Given the description of an element on the screen output the (x, y) to click on. 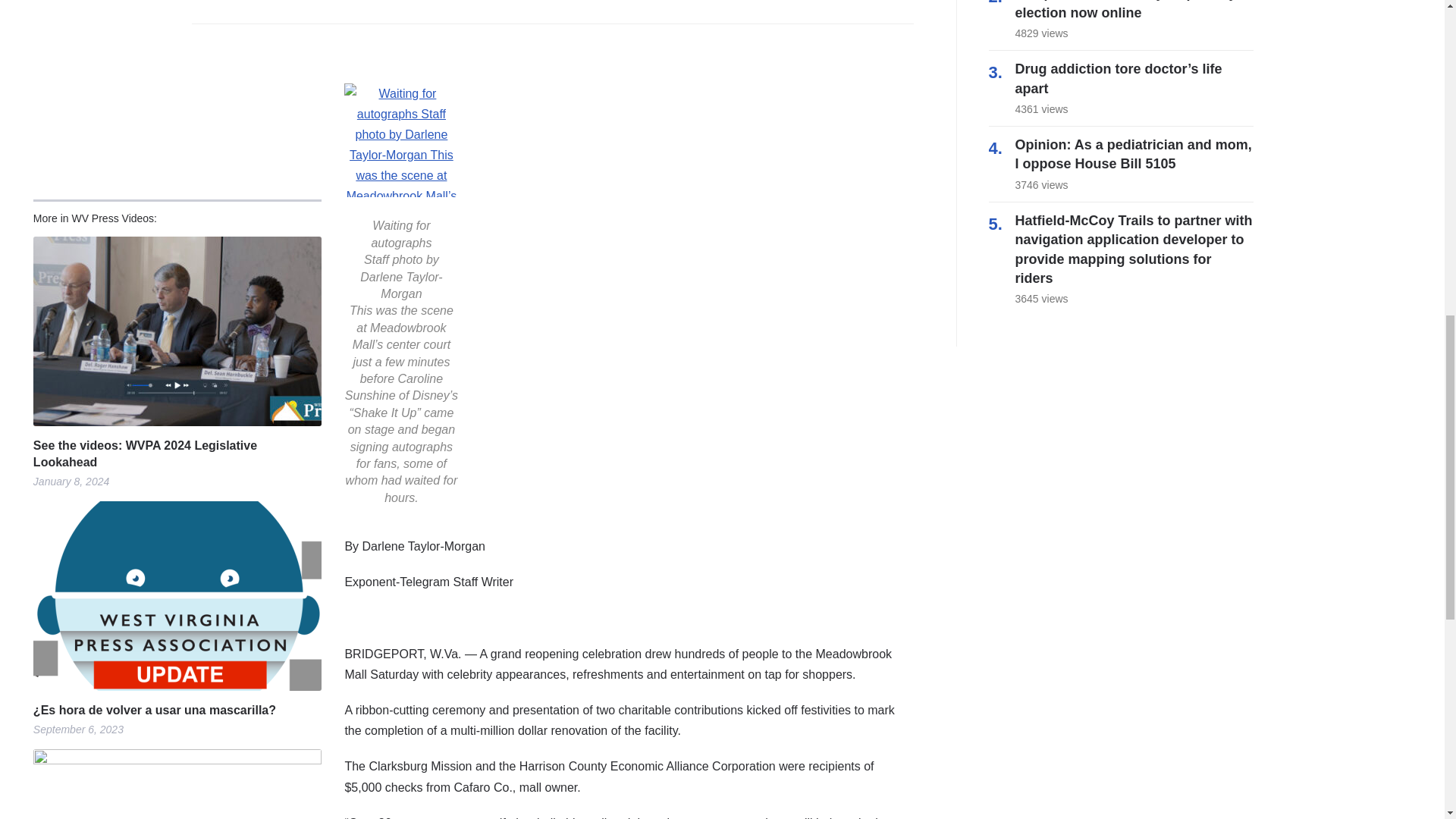
Permalink to See the videos: WVPA 2024 Legislative Lookahead (177, 454)
Permalink to See the videos: WVPA 2024 Legislative Lookahead (177, 330)
